Given the description of an element on the screen output the (x, y) to click on. 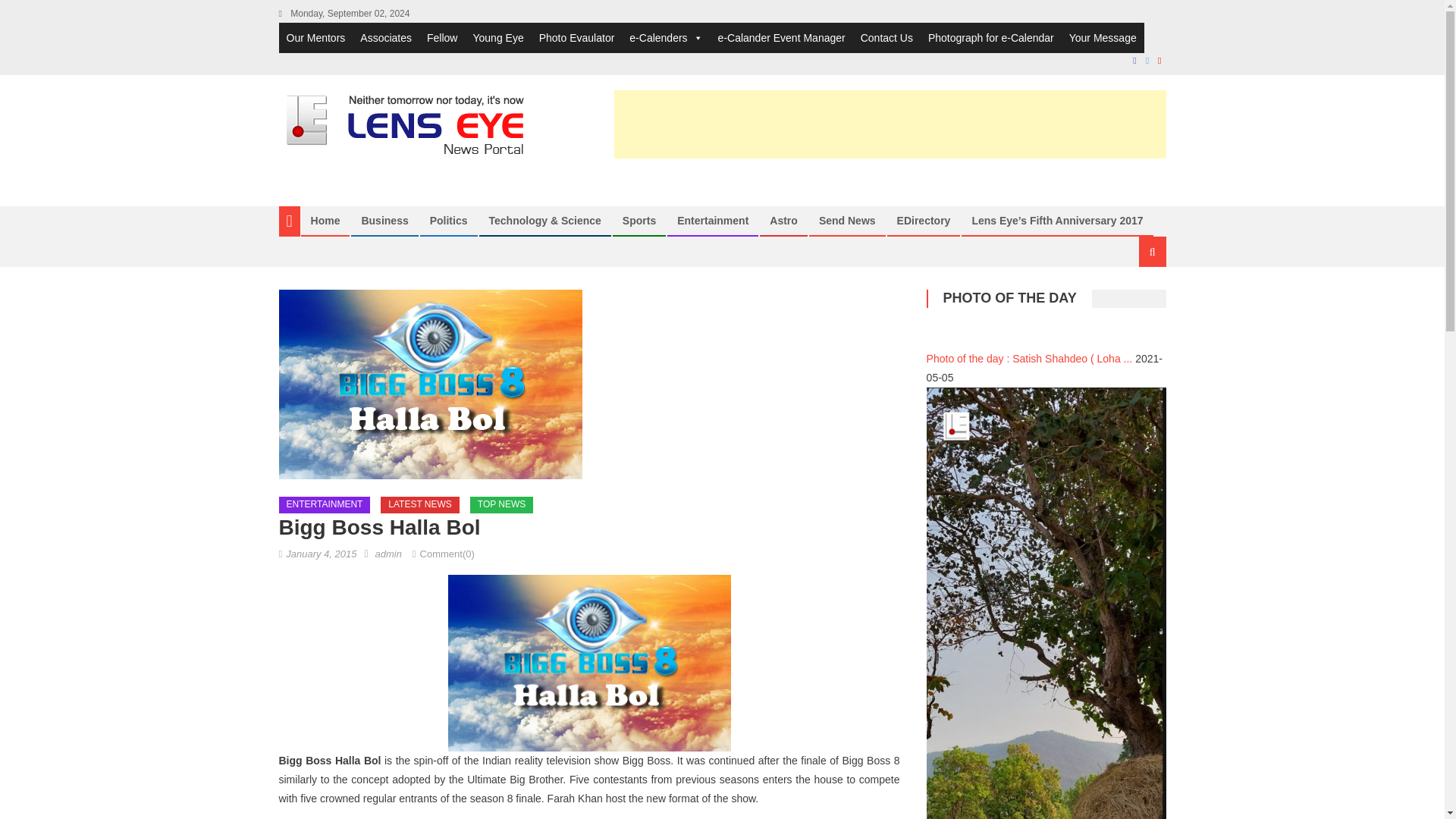
Business (384, 220)
Our Mentors (316, 37)
Home (325, 220)
e-Calenders (665, 37)
Fellow (441, 37)
EDirectory (923, 220)
Search (1133, 302)
e-Calander Event Manager (781, 37)
Associates (385, 37)
LATEST NEWS (420, 504)
